Given the description of an element on the screen output the (x, y) to click on. 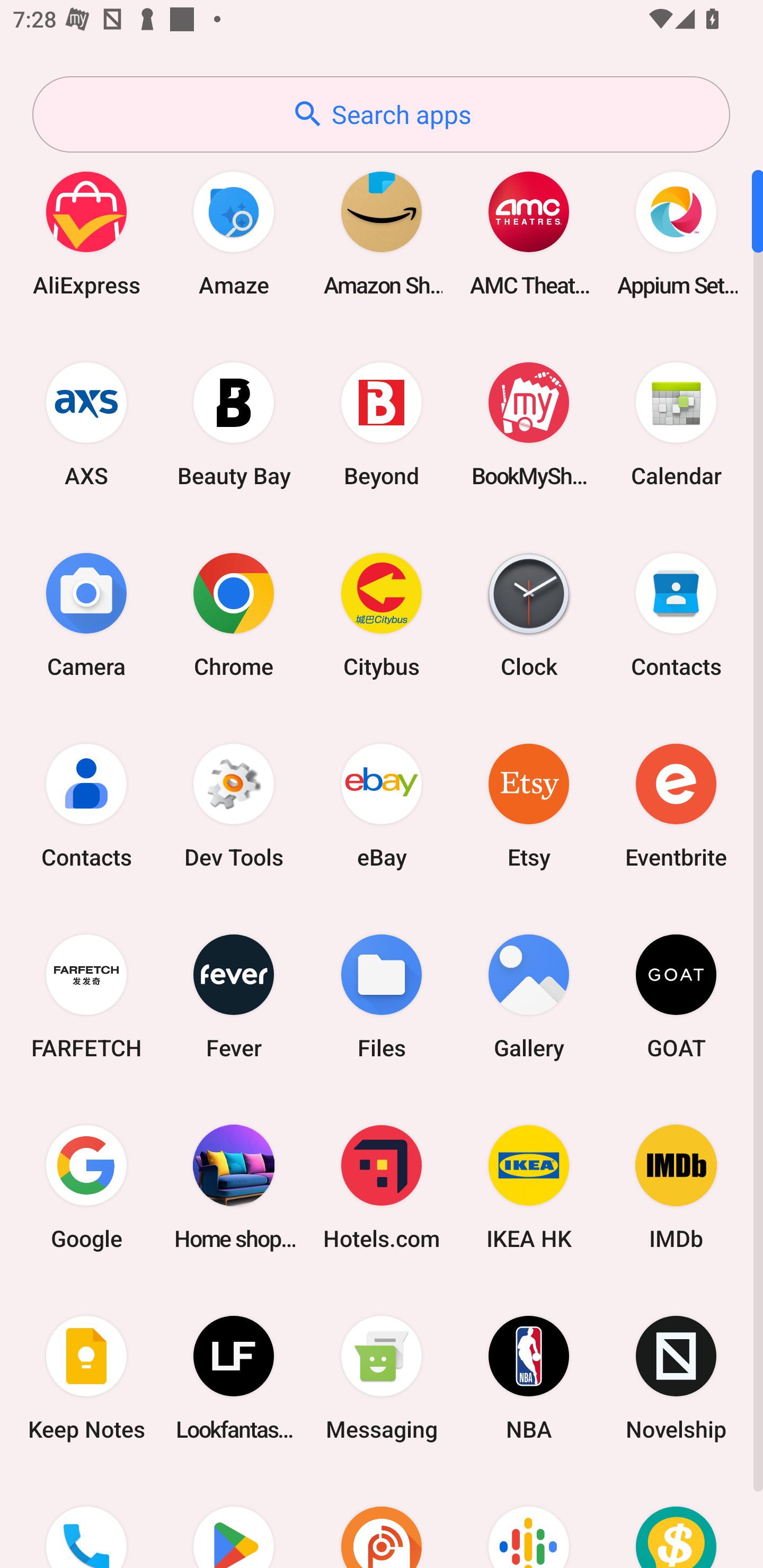
  Search apps (381, 114)
AliExpress (86, 233)
Amaze (233, 233)
Amazon Shopping (381, 233)
AMC Theatres (528, 233)
Appium Settings (676, 233)
AXS (86, 424)
Beauty Bay (233, 424)
Beyond (381, 424)
BookMyShow (528, 424)
Calendar (676, 424)
Camera (86, 614)
Chrome (233, 614)
Citybus (381, 614)
Clock (528, 614)
Contacts (676, 614)
Contacts (86, 805)
Dev Tools (233, 805)
eBay (381, 805)
Etsy (528, 805)
Eventbrite (676, 805)
FARFETCH (86, 996)
Fever (233, 996)
Files (381, 996)
Gallery (528, 996)
GOAT (676, 996)
Google (86, 1186)
Home shopping (233, 1186)
Hotels.com (381, 1186)
IKEA HK (528, 1186)
IMDb (676, 1186)
Keep Notes (86, 1377)
Lookfantastic (233, 1377)
Messaging (381, 1377)
NBA (528, 1377)
Novelship (676, 1377)
Phone (86, 1520)
Play Store (233, 1520)
Podcast Addict (381, 1520)
Podcasts (528, 1520)
Price (676, 1520)
